Given the description of an element on the screen output the (x, y) to click on. 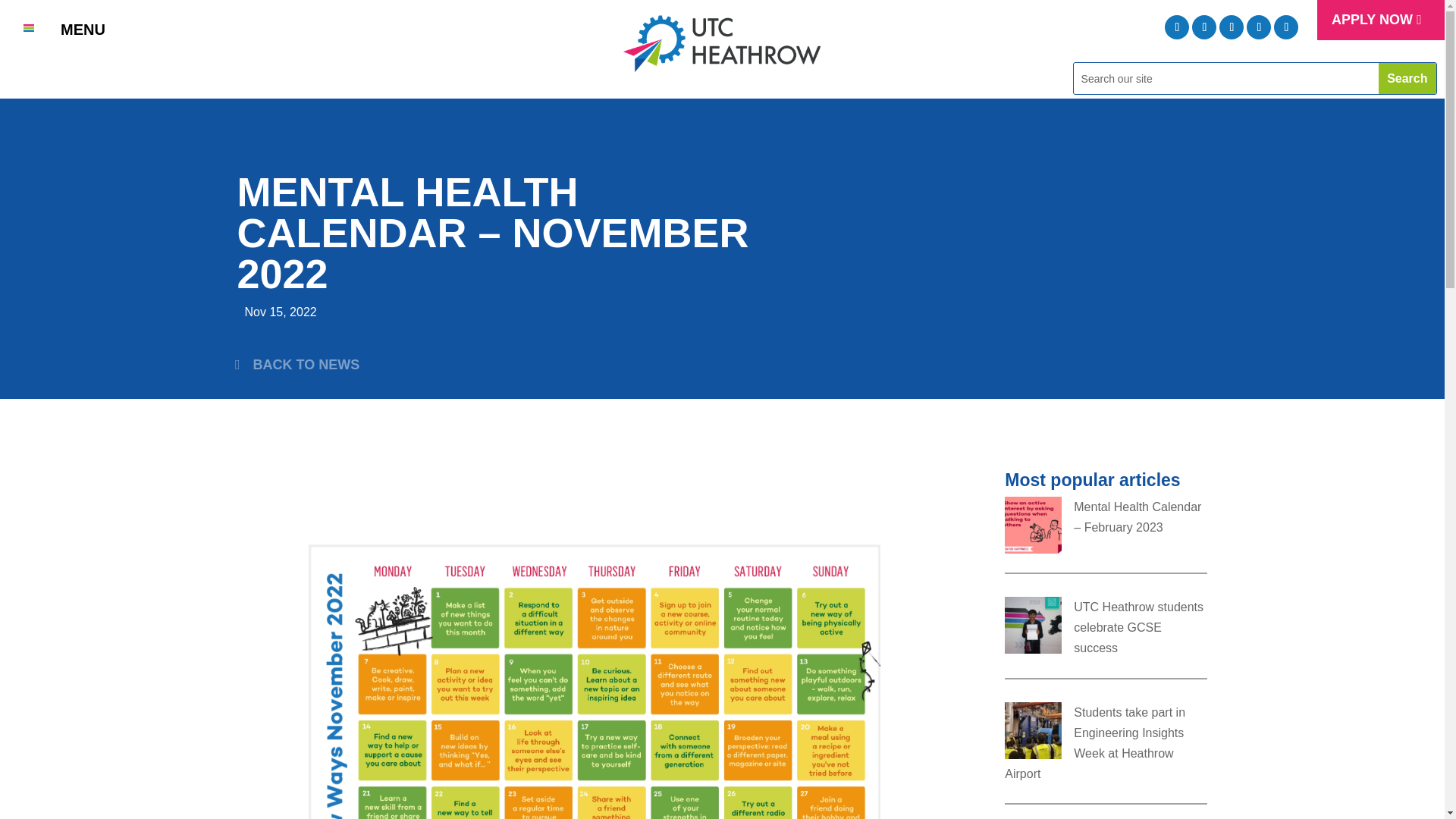
Follow on X (1176, 27)
Follow on Youtube (1258, 27)
Follow on Instagram (1203, 27)
Search (1406, 78)
Follow on Facebook (1231, 27)
Follow on LinkedIn (1286, 27)
Search (1406, 78)
